Given the description of an element on the screen output the (x, y) to click on. 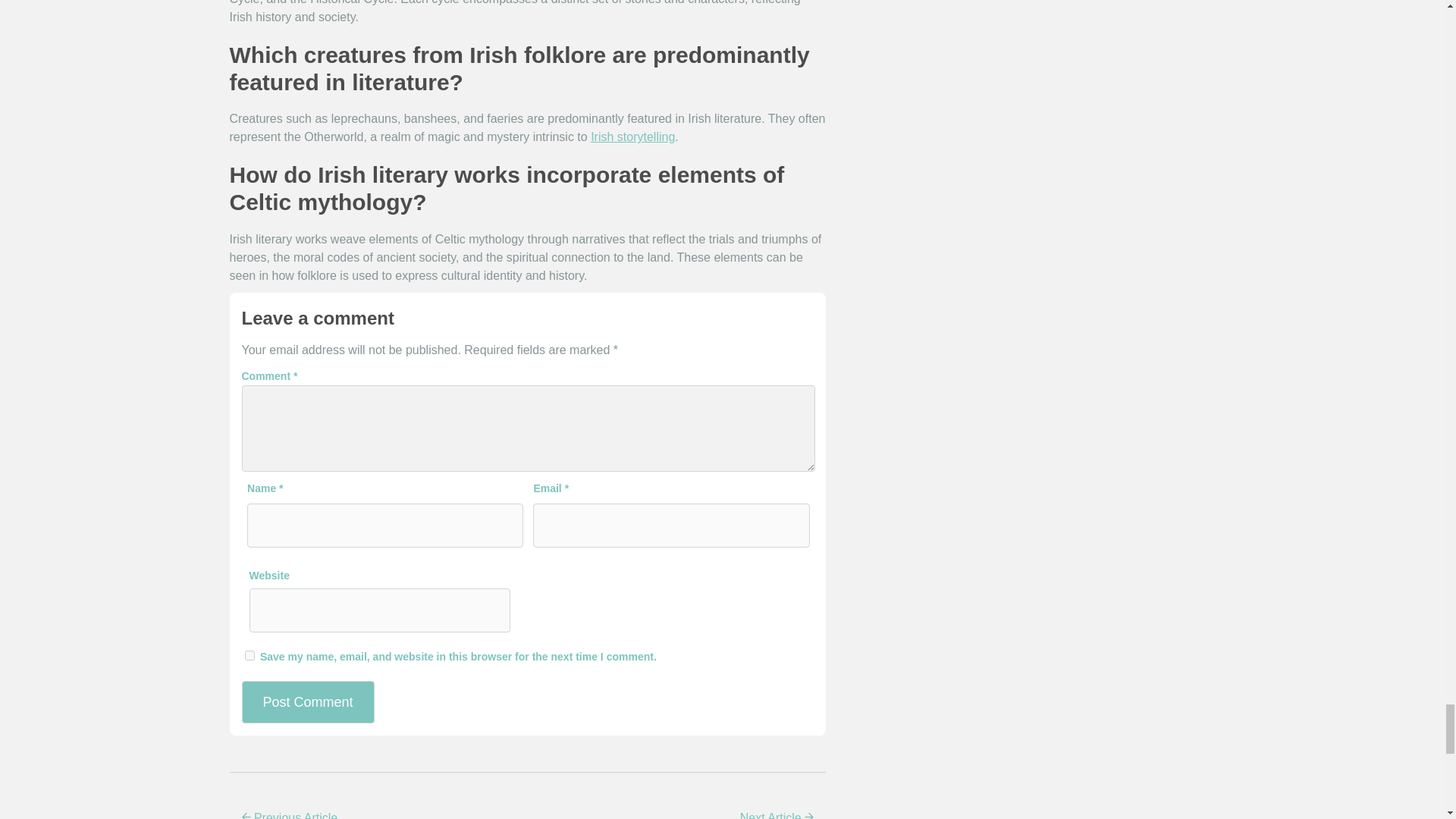
yes (248, 655)
Post Comment (307, 701)
